Given the description of an element on the screen output the (x, y) to click on. 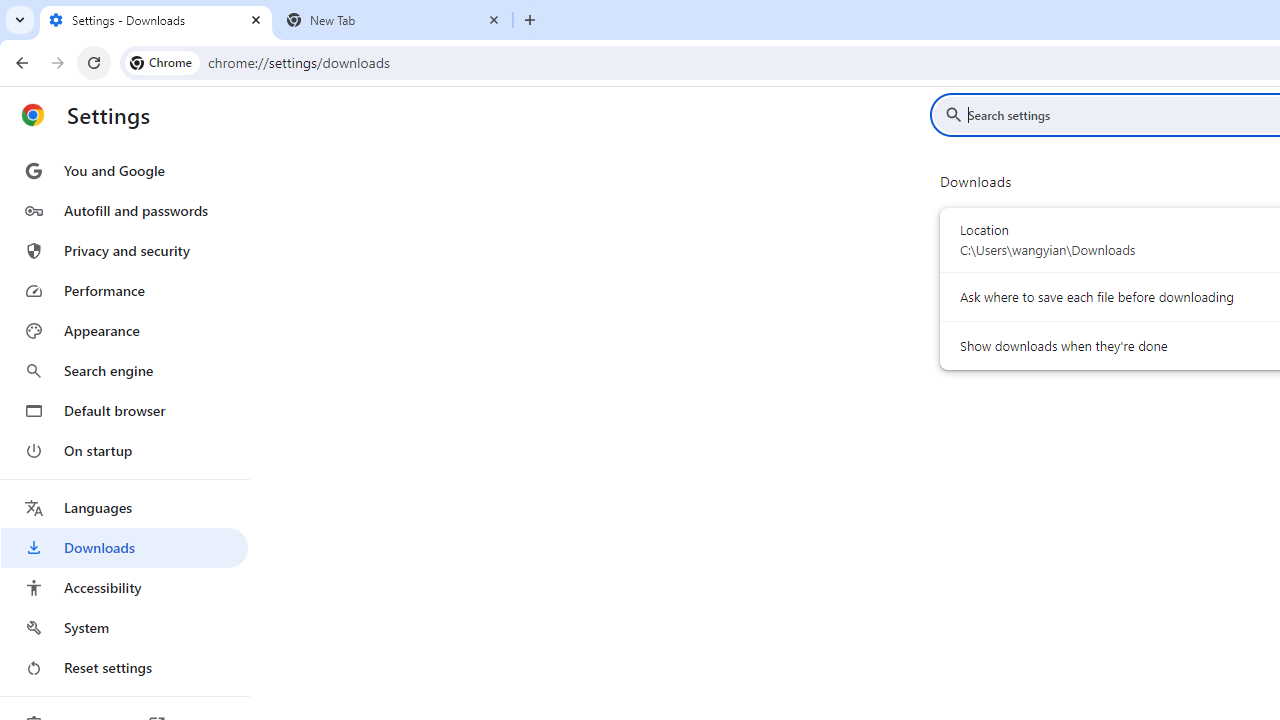
Privacy and security (124, 250)
You and Google (124, 170)
Default browser (124, 410)
Downloads (124, 547)
Appearance (124, 331)
